Given the description of an element on the screen output the (x, y) to click on. 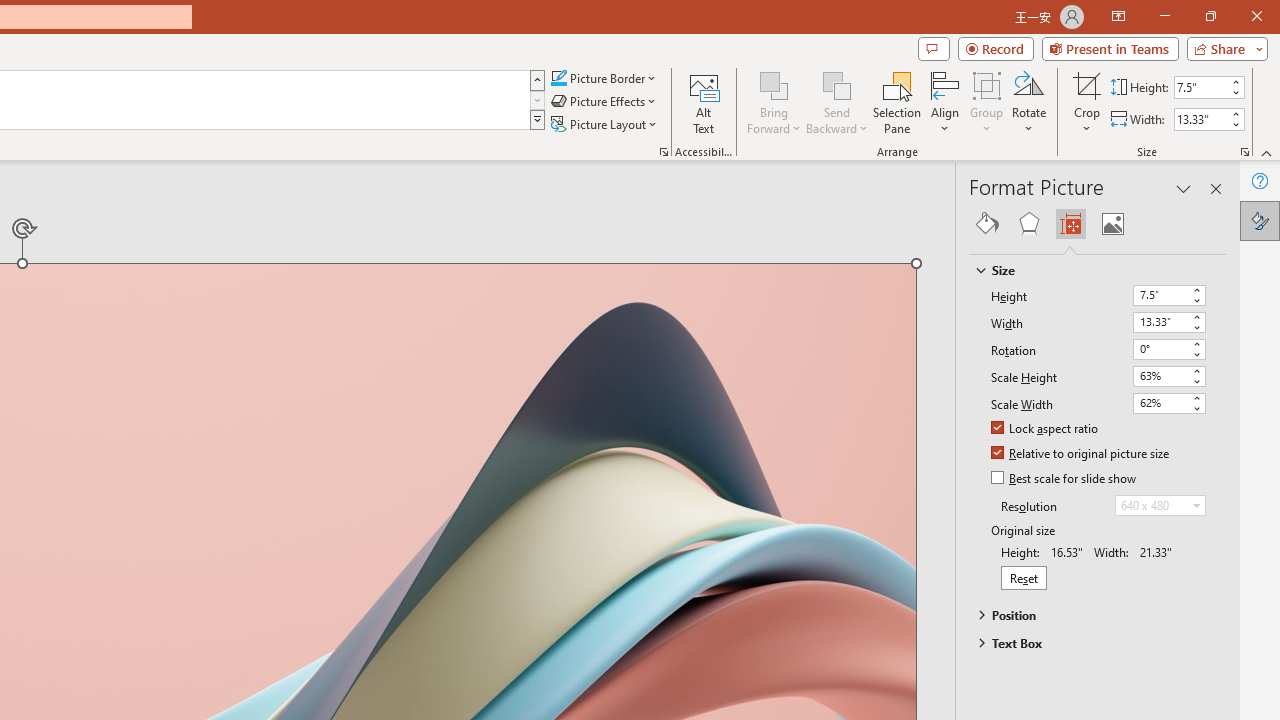
Shape Height (1201, 87)
Rotate (1028, 102)
Scale Width (1160, 402)
